Given the description of an element on the screen output the (x, y) to click on. 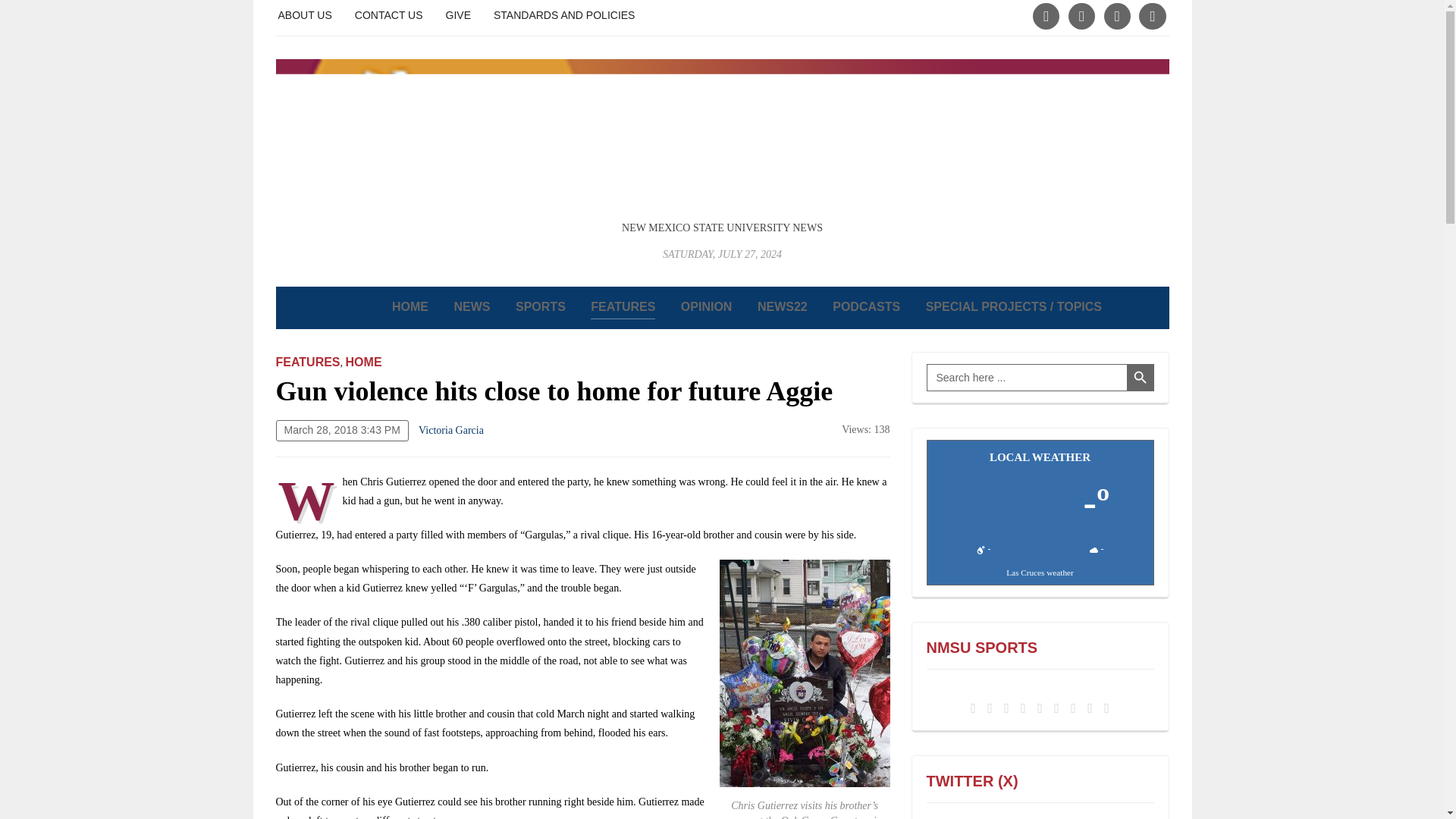
GIVE (457, 14)
CONTACT US (389, 14)
INSTAGRAM (1081, 14)
STANDARDS AND POLICIES (563, 14)
Posts by Victoria Garcia (451, 430)
FACEBOOK (1117, 14)
ABOUT US (304, 14)
YOUTUBE (1152, 14)
Instagram (1081, 14)
X (1045, 14)
